Given the description of an element on the screen output the (x, y) to click on. 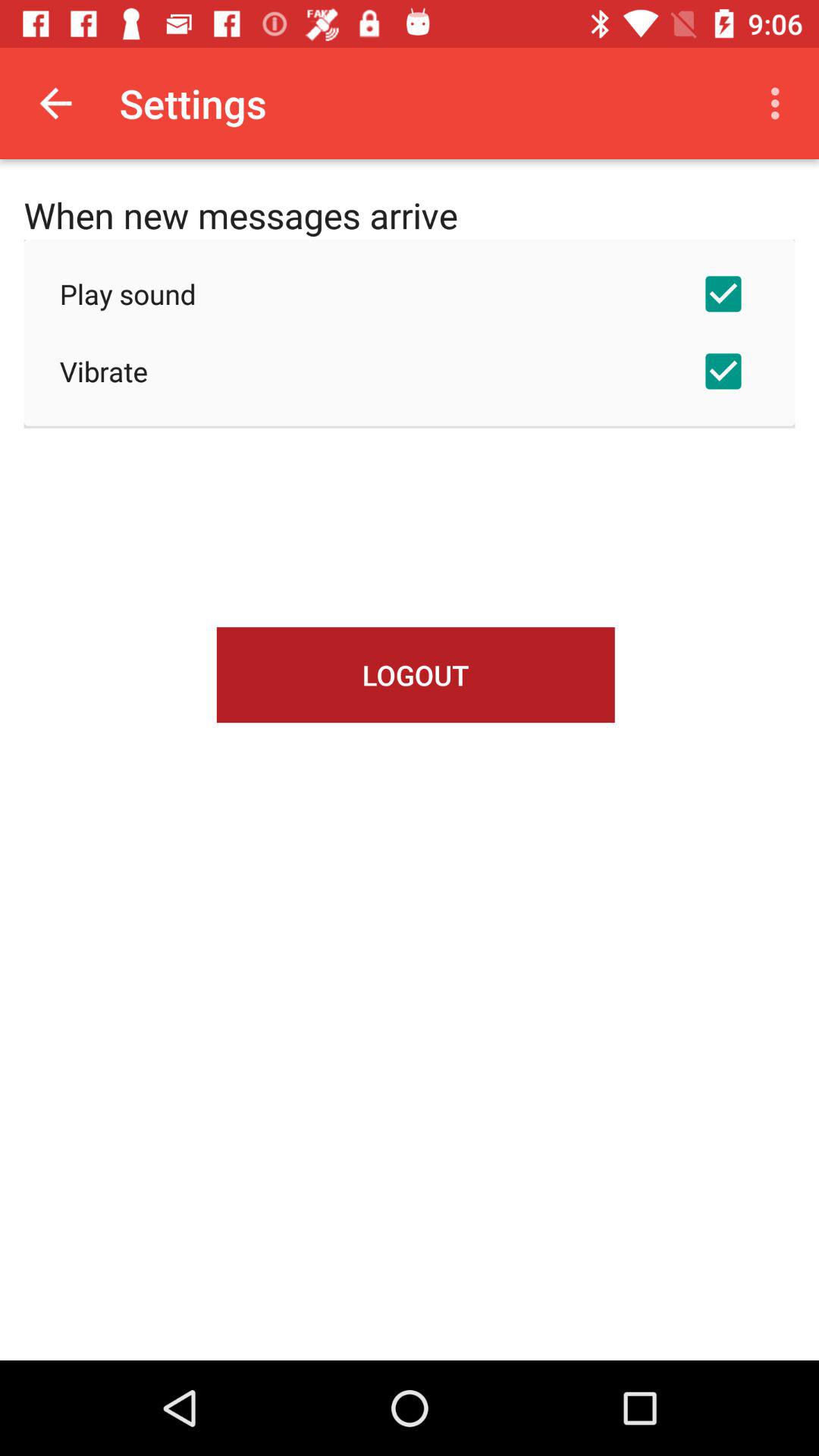
launch the item to the left of settings item (55, 103)
